Given the description of an element on the screen output the (x, y) to click on. 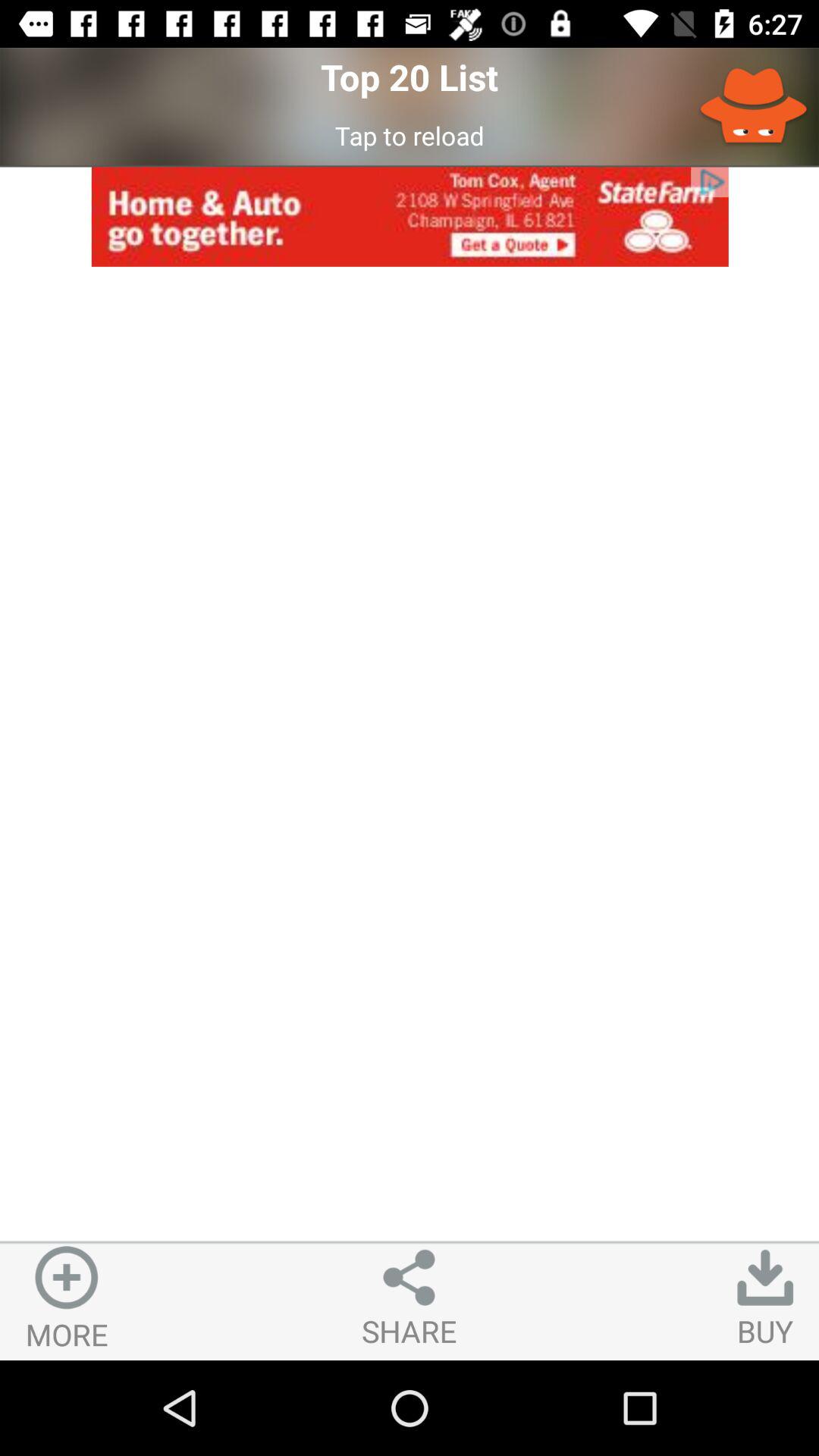
open item below the top 20 list app (409, 135)
